Given the description of an element on the screen output the (x, y) to click on. 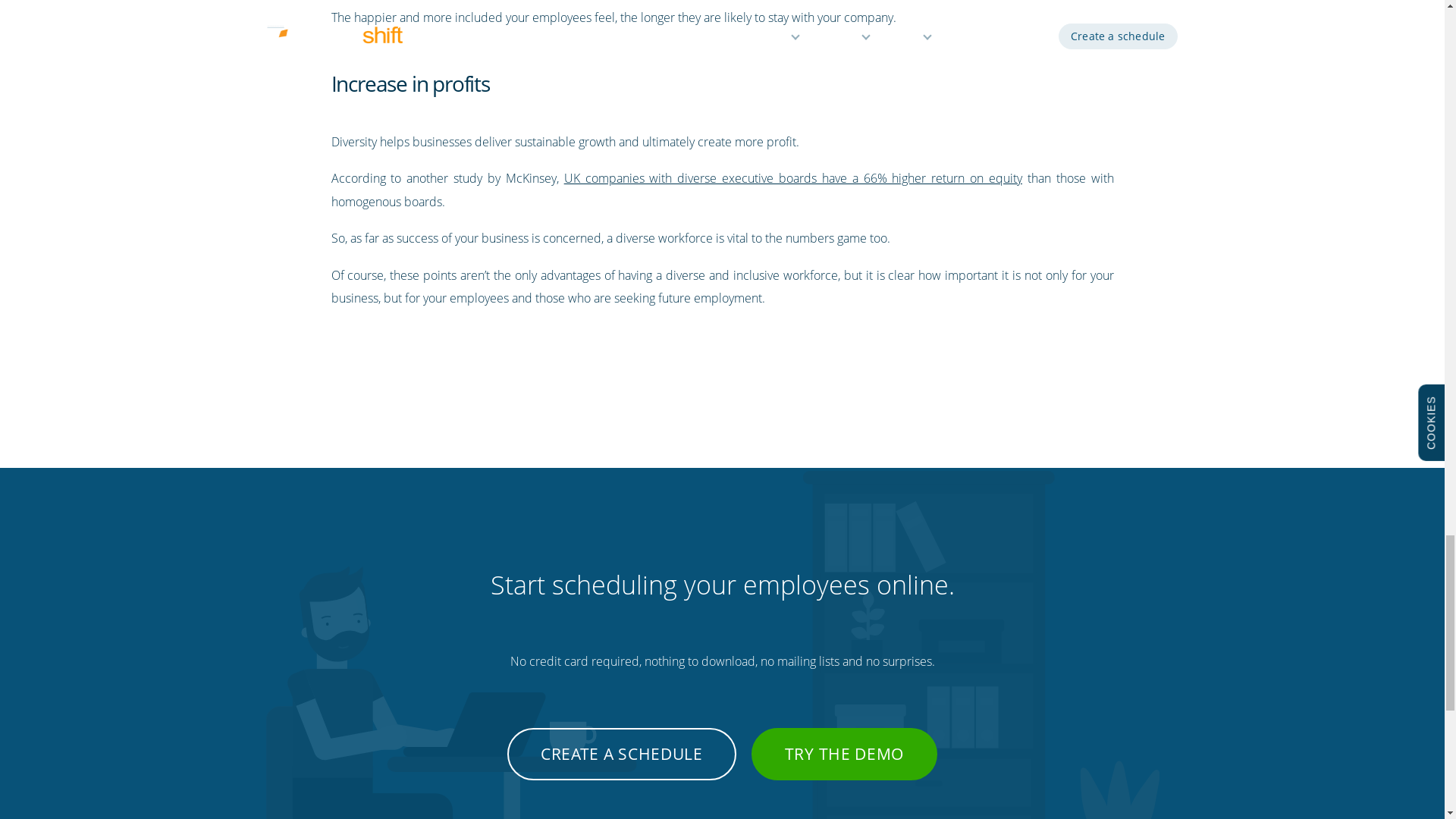
CREATE A SCHEDULE (621, 754)
TRY THE DEMO (844, 754)
